Given the description of an element on the screen output the (x, y) to click on. 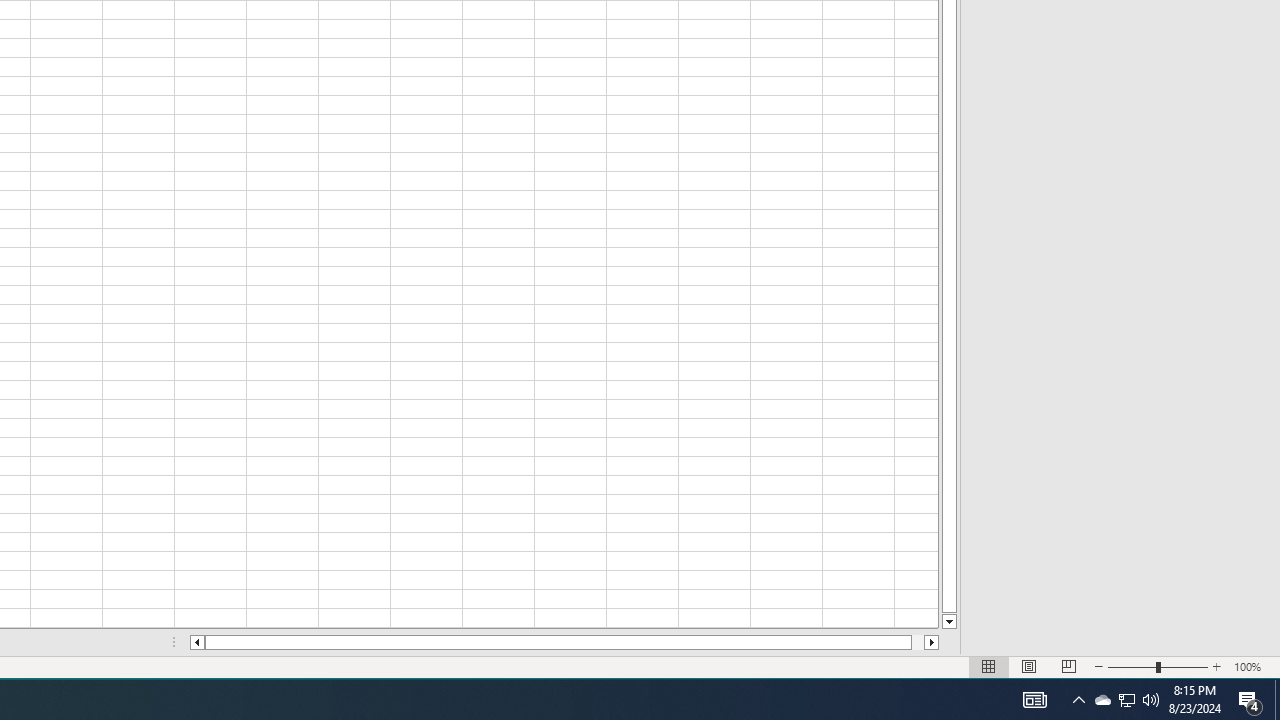
AutomationID: 4105 (1034, 699)
Action Center, 4 new notifications (1250, 699)
